Given the description of an element on the screen output the (x, y) to click on. 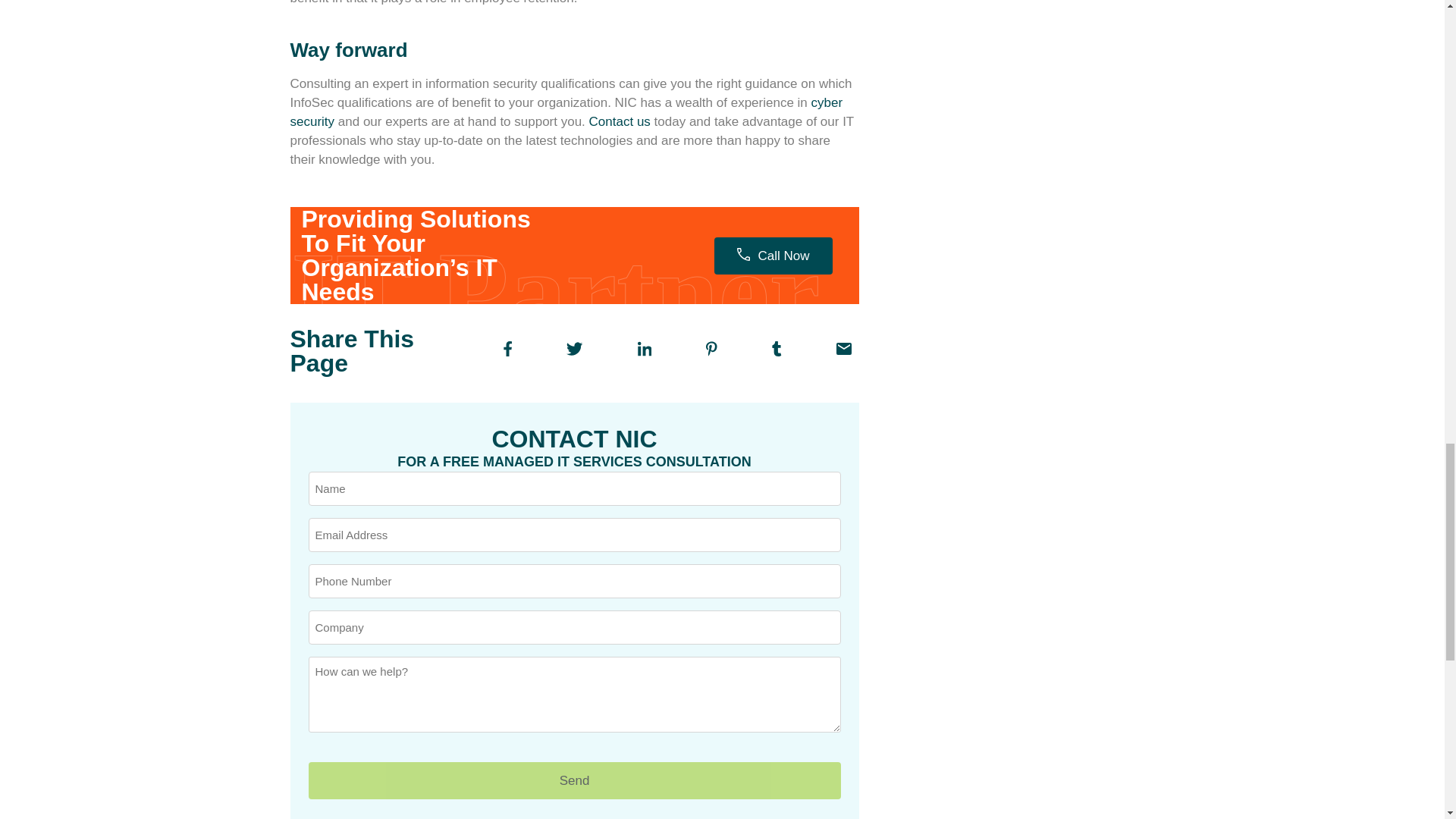
Send (573, 779)
Call Now (772, 254)
Contact us (619, 121)
cyber security (566, 111)
IT Partner (561, 270)
